Given the description of an element on the screen output the (x, y) to click on. 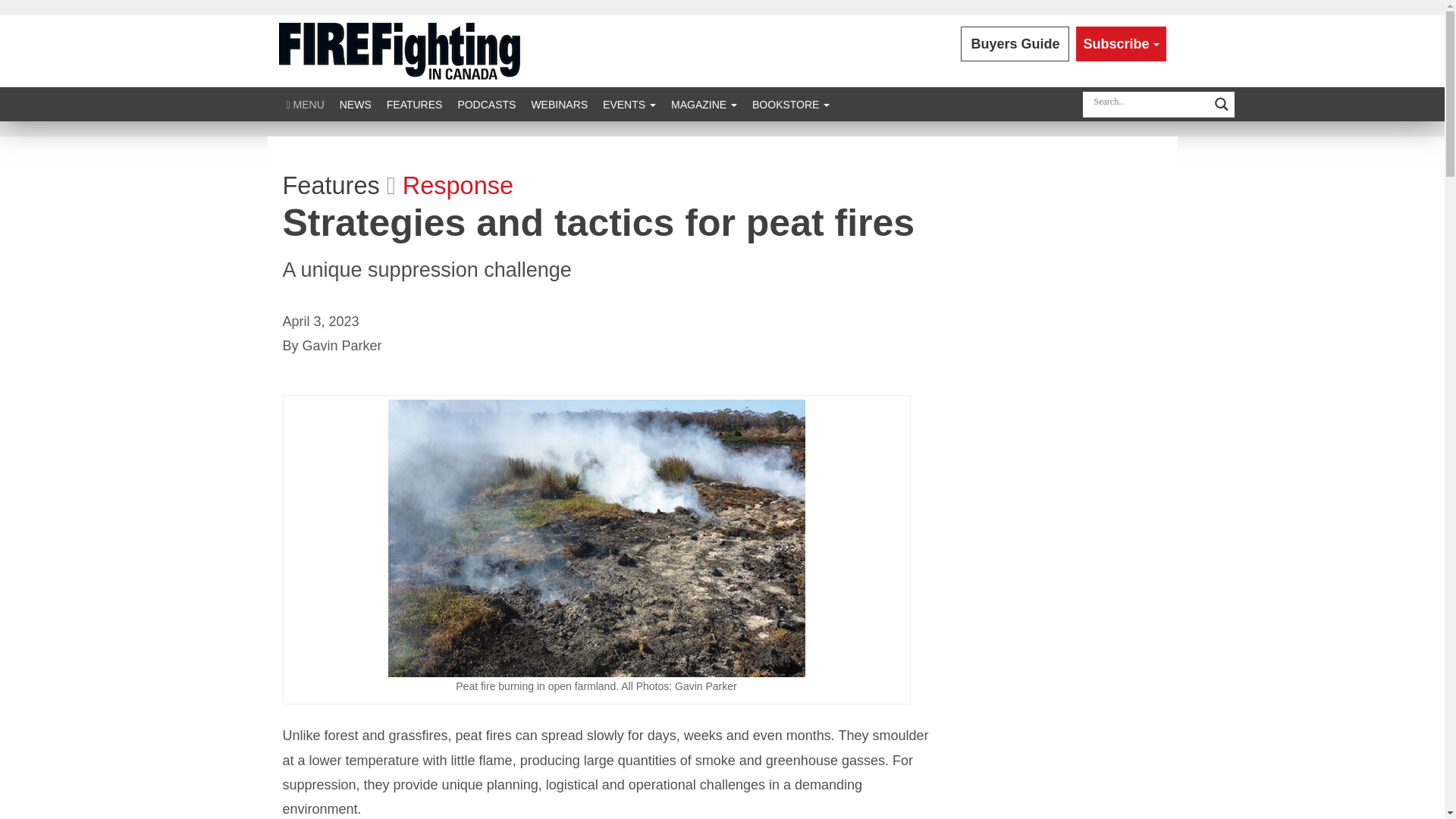
Fire Fighting in Canada (399, 49)
Subscribe (1120, 43)
NEWS (354, 103)
MENU (305, 103)
PODCASTS (485, 103)
Buyers Guide (1014, 43)
Click to show site navigation (305, 103)
MAGAZINE (703, 103)
FEATURES (413, 103)
BOOKSTORE (790, 103)
EVENTS (629, 103)
Buyers Guide (1014, 43)
WEBINARS (558, 103)
